Given the description of an element on the screen output the (x, y) to click on. 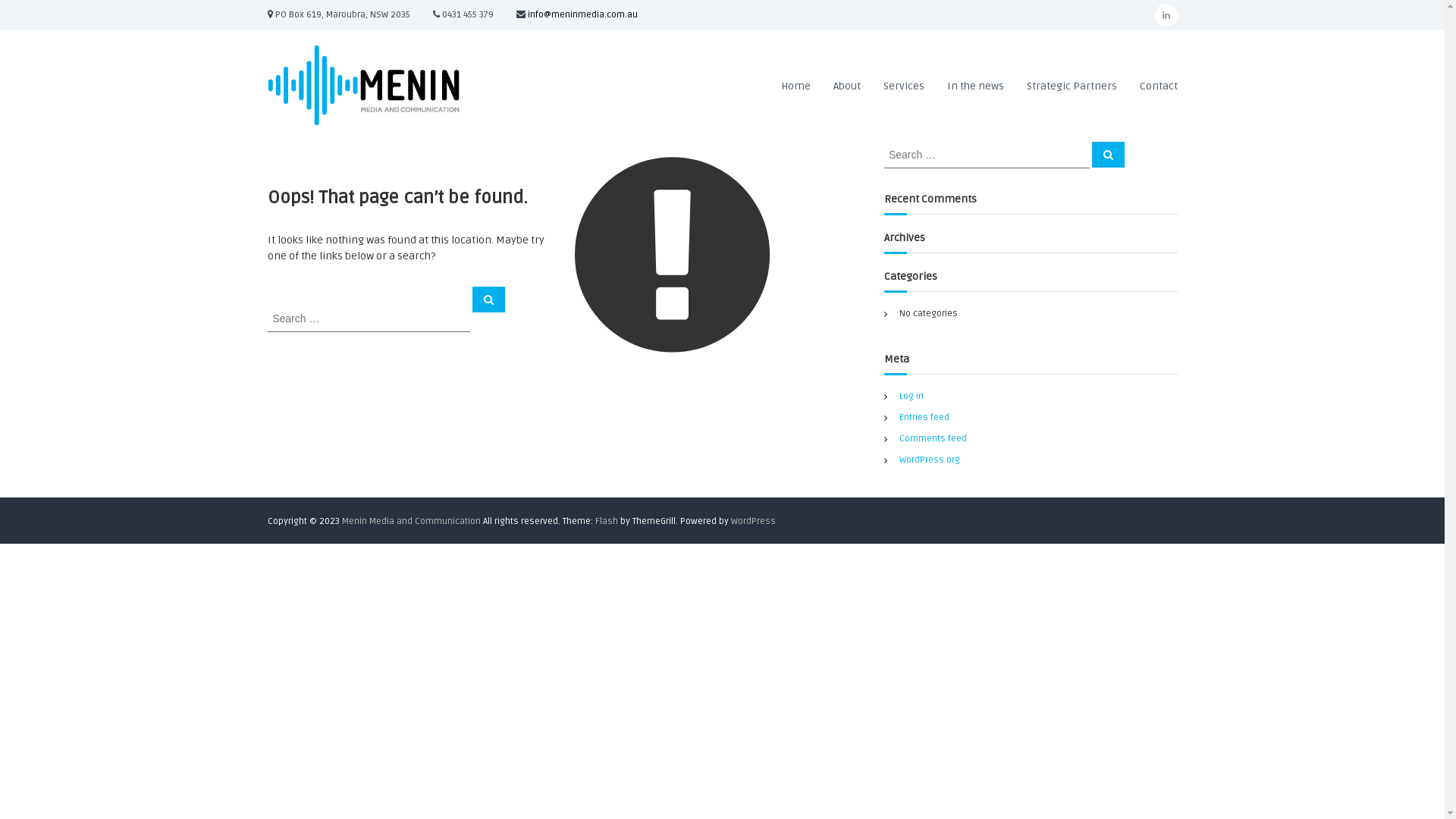
In the news Element type: text (974, 84)
Menin Media and Communication Element type: text (475, 266)
info@meninmedia.com.au Element type: text (582, 14)
Strategic Partners Element type: text (1071, 84)
WordPress.org Element type: text (929, 459)
Comments feed Element type: text (932, 438)
WordPress Element type: text (753, 521)
Services Element type: text (902, 84)
About Element type: text (845, 84)
Home Element type: text (795, 84)
Entries feed Element type: text (924, 417)
Contact Element type: text (1157, 84)
Log in Element type: text (911, 395)
Search Element type: text (1108, 154)
Flash Element type: text (605, 521)
Menin Media and Communication Element type: text (410, 521)
Search Element type: text (488, 299)
LinkedIn Element type: text (1165, 14)
